Given the description of an element on the screen output the (x, y) to click on. 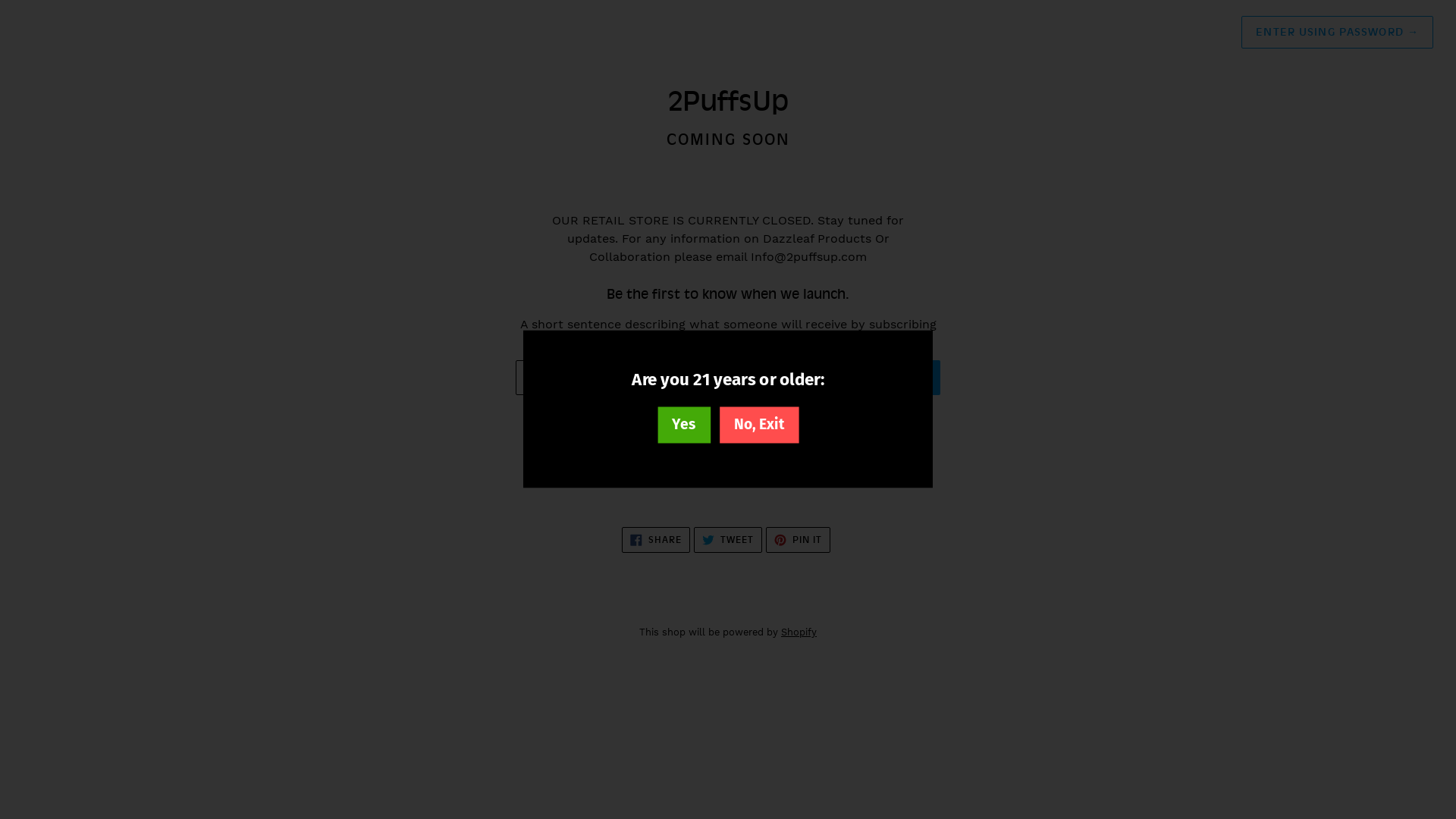
Shopify Element type: text (798, 631)
PIN IT
PIN ON PINTEREST Element type: text (797, 539)
TWEET
TWEET ON TWITTER Element type: text (727, 539)
SHARE
SHARE ON FACEBOOK Element type: text (655, 539)
NOTIFY ME Element type: text (893, 377)
